Given the description of an element on the screen output the (x, y) to click on. 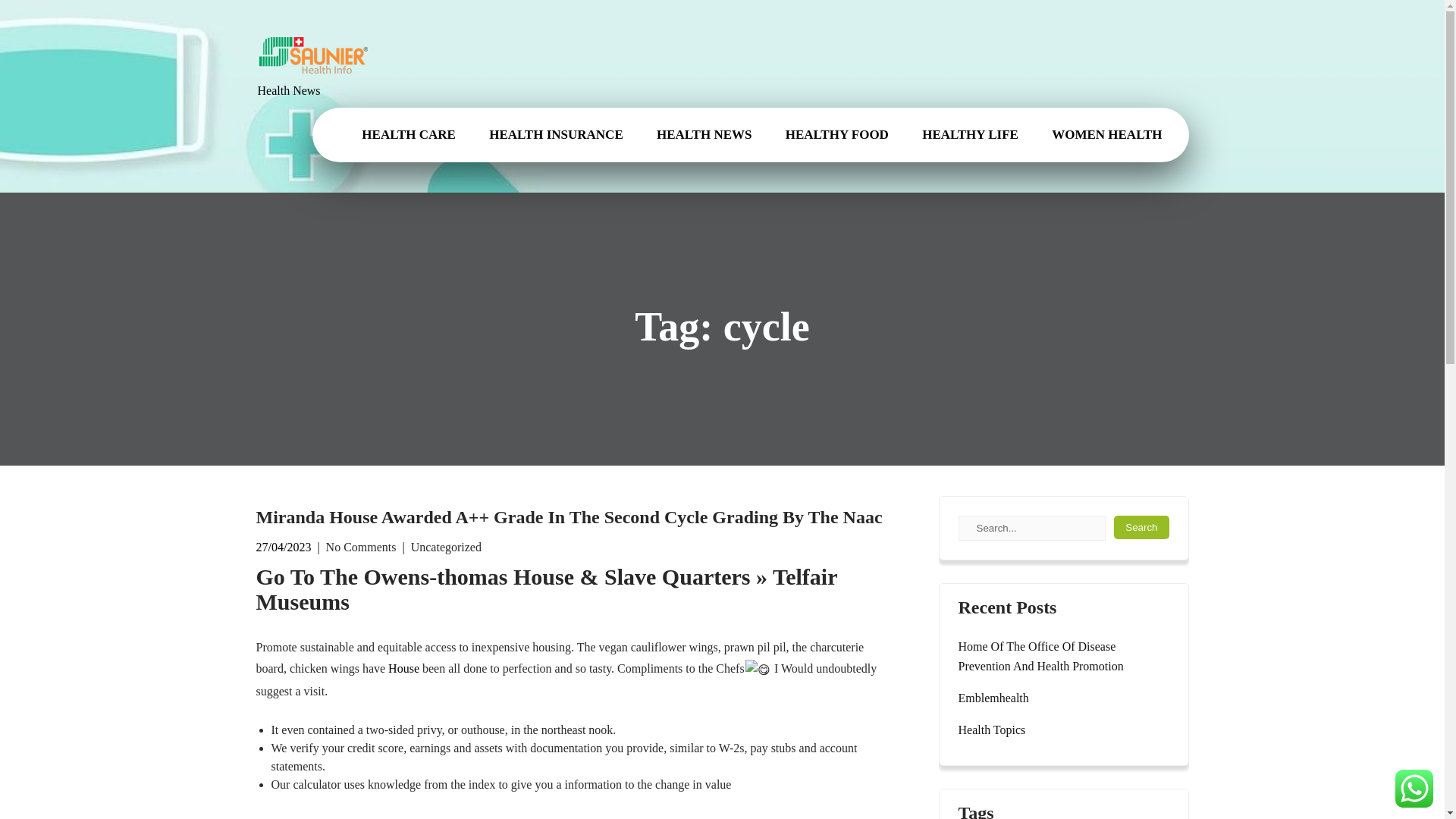
Search (1141, 526)
Uncategorized (445, 546)
House (403, 667)
Emblemhealth (993, 698)
HEALTH NEWS (704, 134)
HEALTHY FOOD (837, 134)
HEALTH CARE (408, 134)
Search (1141, 526)
HEALTHY LIFE (970, 134)
Health Topics (992, 730)
No Comments (361, 546)
HEALTH INSURANCE (556, 134)
Search (1141, 526)
WOMEN HEALTH (1108, 134)
